Given the description of an element on the screen output the (x, y) to click on. 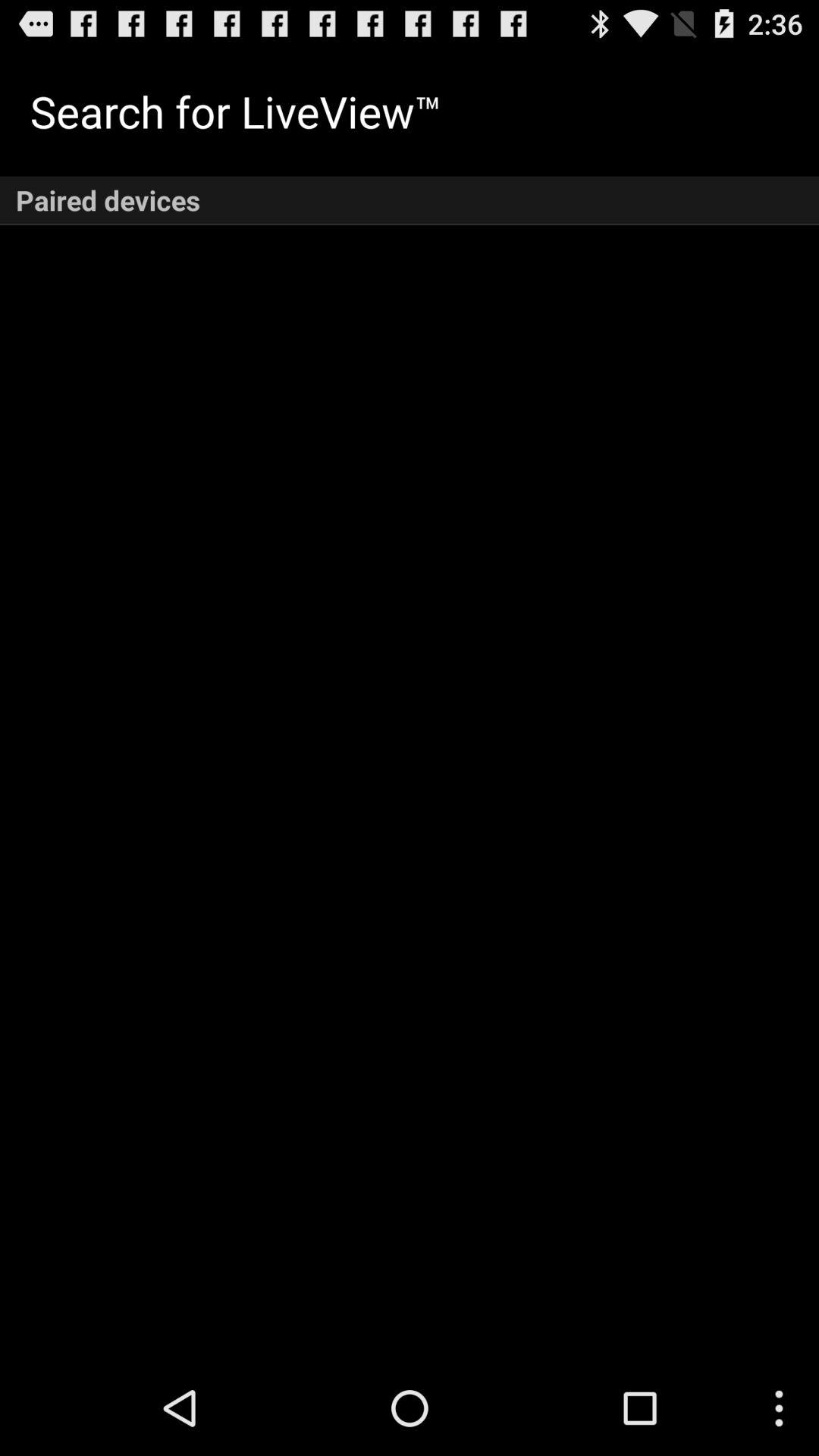
launch the paired devices item (409, 200)
